Given the description of an element on the screen output the (x, y) to click on. 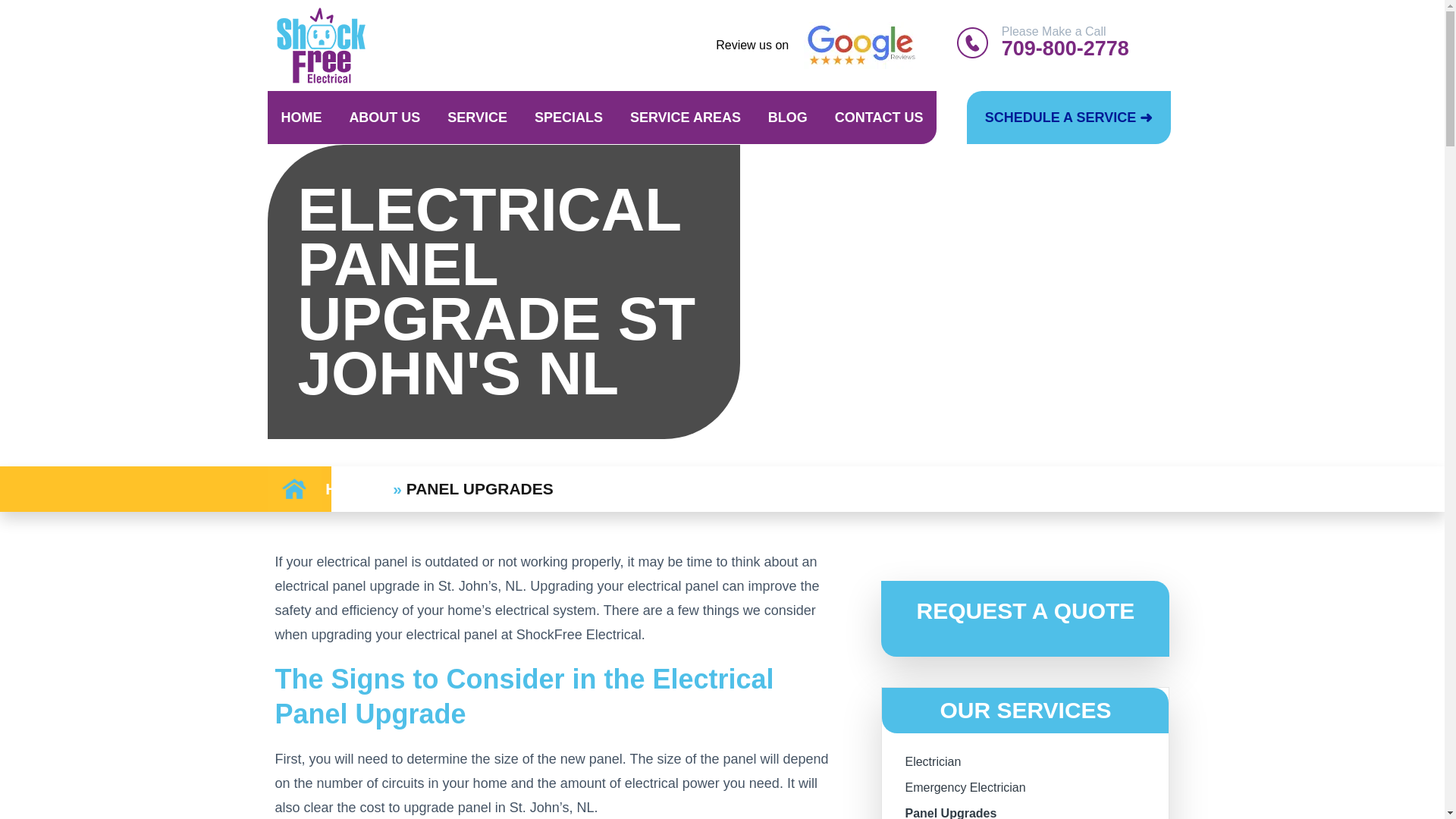
709-800-2778 (1091, 51)
SPECIALS (572, 117)
Review us on (752, 44)
Please Make a Call (1084, 41)
SERVICE AREAS (687, 117)
SERVICE (114, 117)
